Given the description of an element on the screen output the (x, y) to click on. 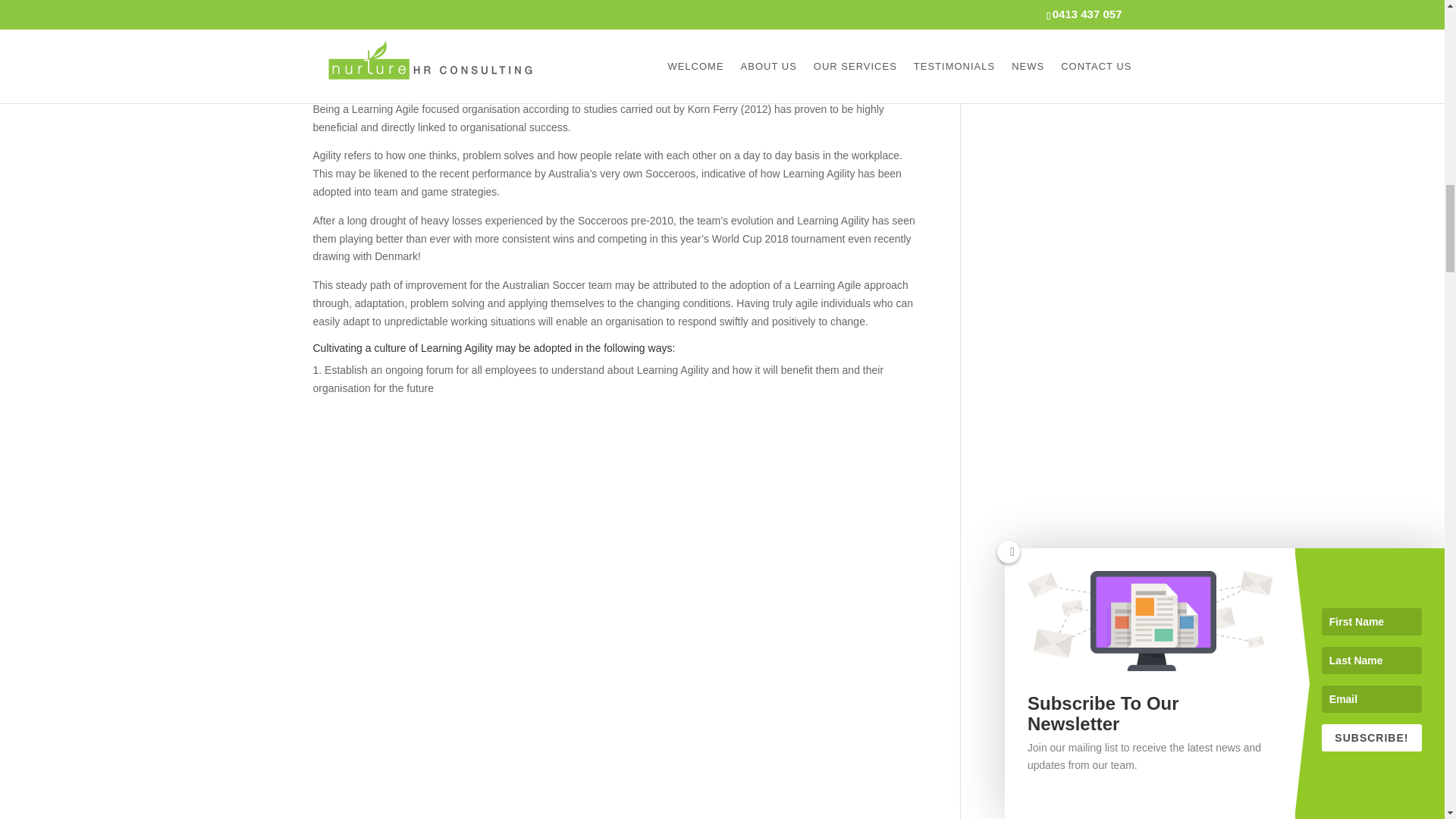
Nuture HR (351, 46)
Driving success through learning agility (486, 18)
Posts by Nuture HR (351, 46)
